Given the description of an element on the screen output the (x, y) to click on. 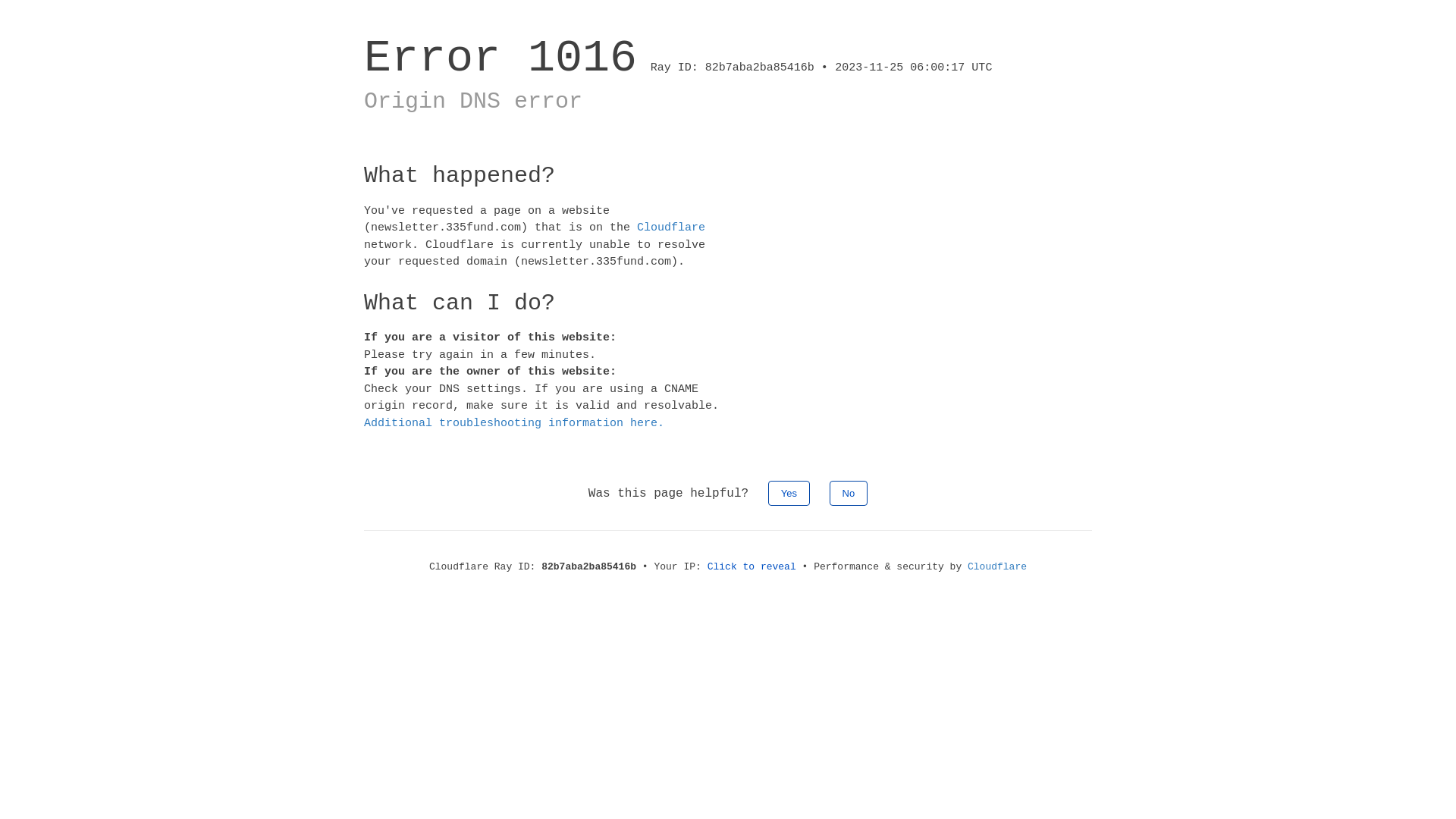
No Element type: text (848, 492)
Additional troubleshooting information here. Element type: text (514, 423)
Yes Element type: text (788, 492)
Click to reveal Element type: text (751, 566)
Cloudflare Element type: text (996, 566)
Cloudflare Element type: text (671, 227)
